Given the description of an element on the screen output the (x, y) to click on. 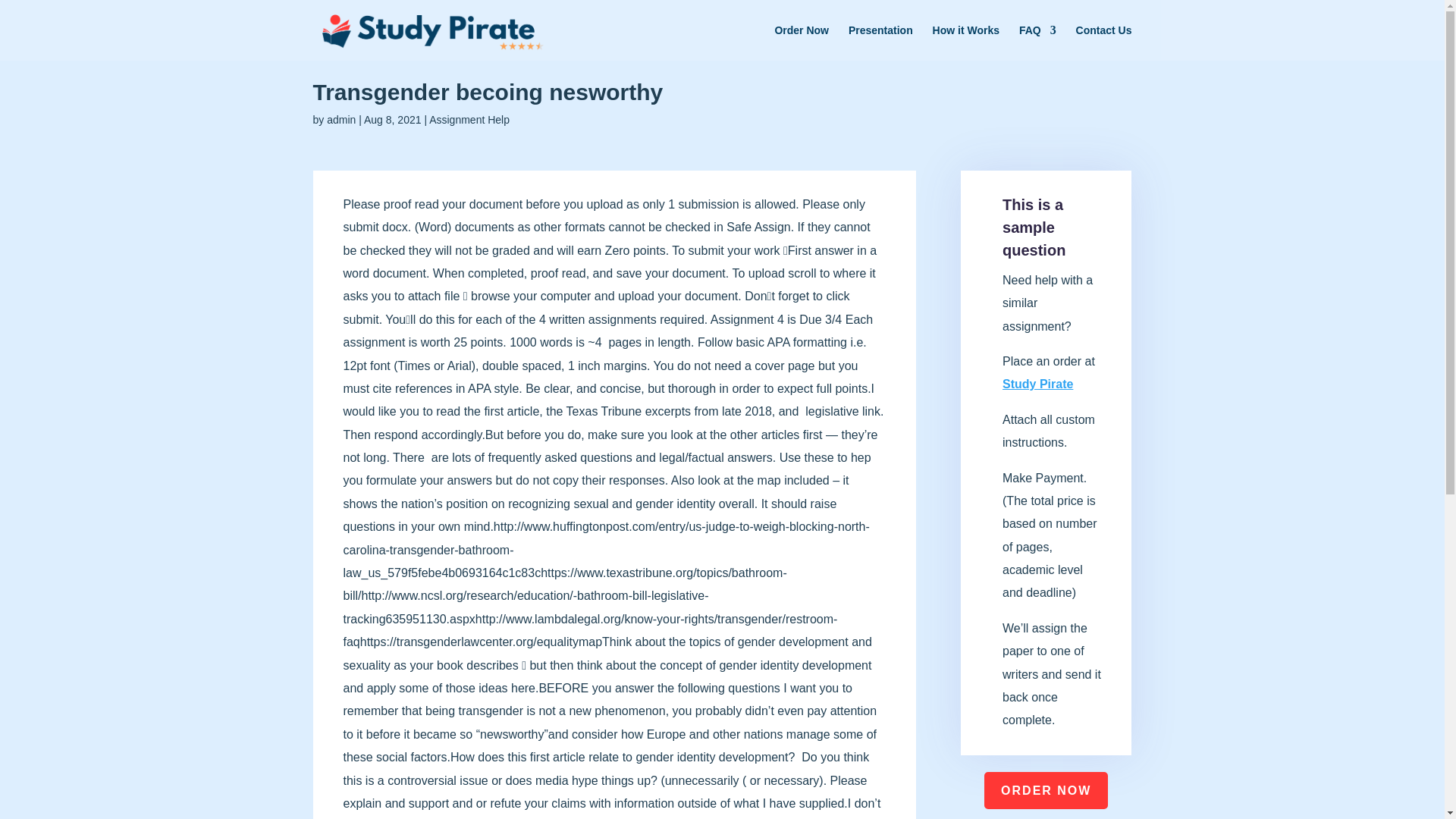
This is a sample question (1034, 227)
Order Now (801, 42)
Assignment Help (469, 119)
Posts by admin (340, 119)
admin (340, 119)
How it Works (965, 42)
Study Pirate (1038, 383)
ORDER NOW (1046, 790)
Presentation (880, 42)
Contact Us (1103, 42)
